Given the description of an element on the screen output the (x, y) to click on. 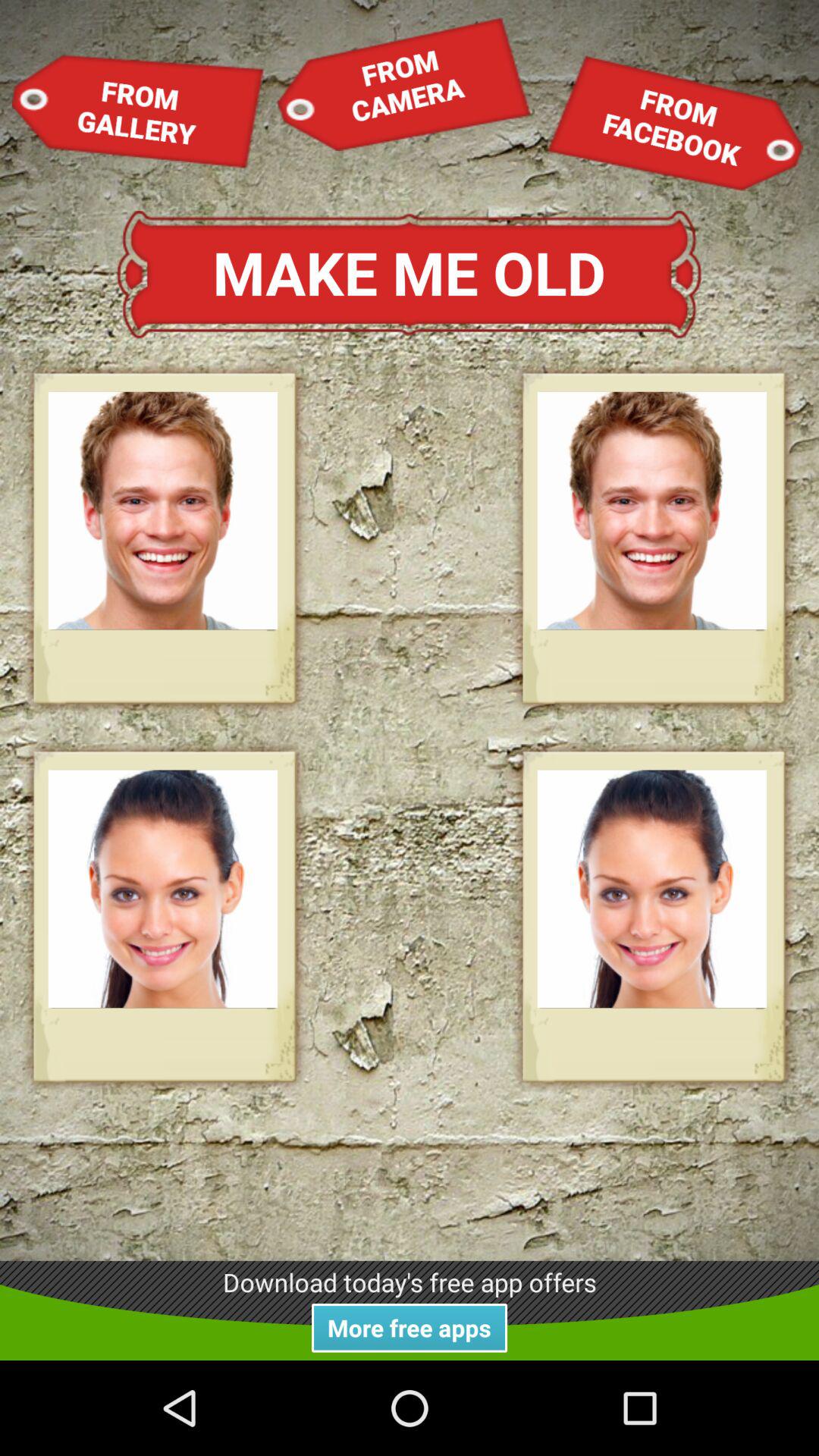
turn on item next to from
camera item (675, 123)
